Given the description of an element on the screen output the (x, y) to click on. 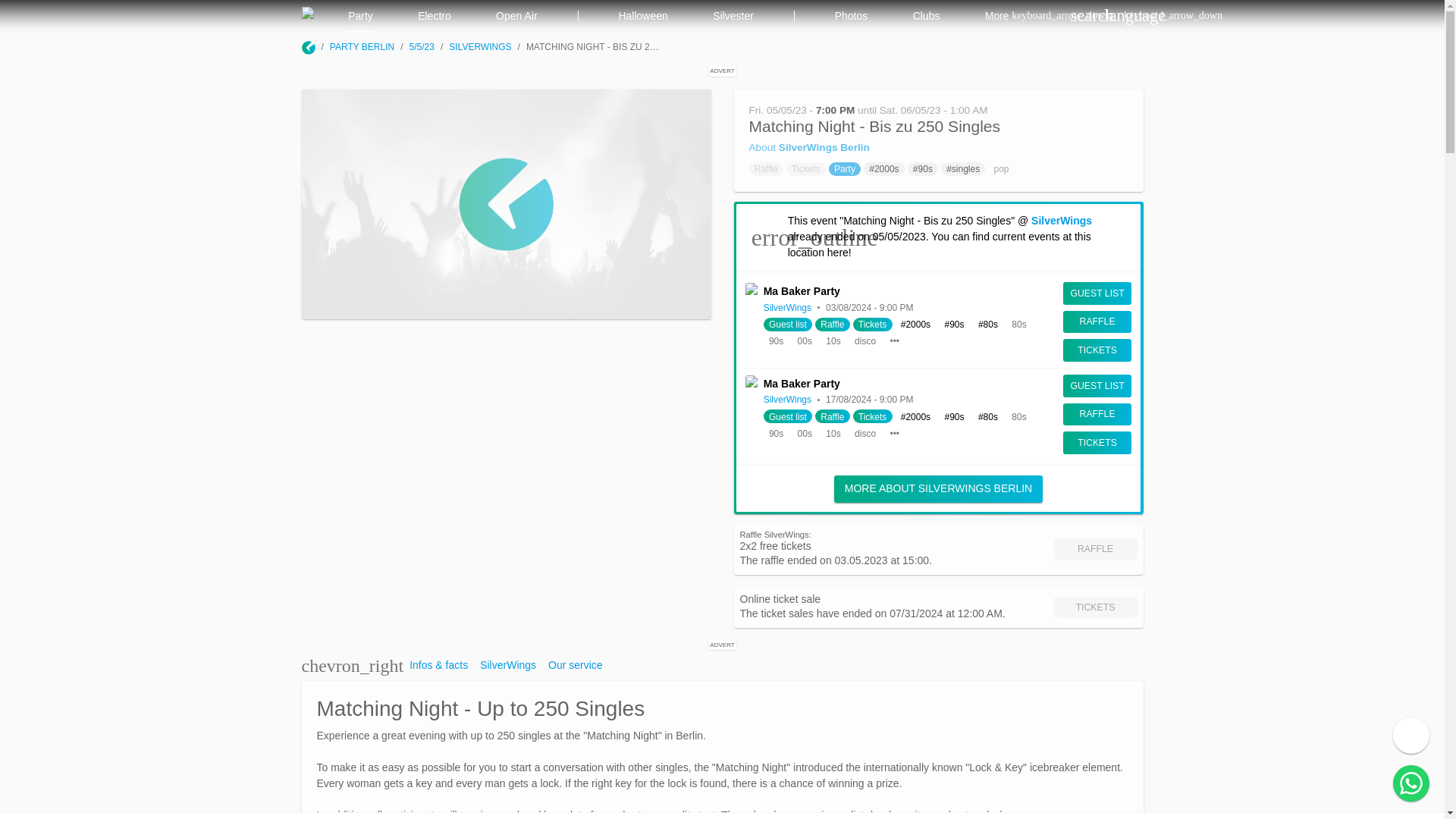
Photos (850, 16)
Open Air (516, 16)
Silvester (733, 16)
language (1118, 15)
Clubs (926, 16)
search (1078, 15)
More (1003, 16)
Clubs in Berlin (925, 16)
Partybilder und Partyfotos Berlin (851, 16)
Silvester in Berlin 2024 (732, 16)
Electro und Techno Party Berlin (434, 16)
Party in Berlin (360, 16)
Open-Air Party Berlin (516, 16)
Halloween in Berlin 2024 (643, 16)
Electro (434, 16)
